Given the description of an element on the screen output the (x, y) to click on. 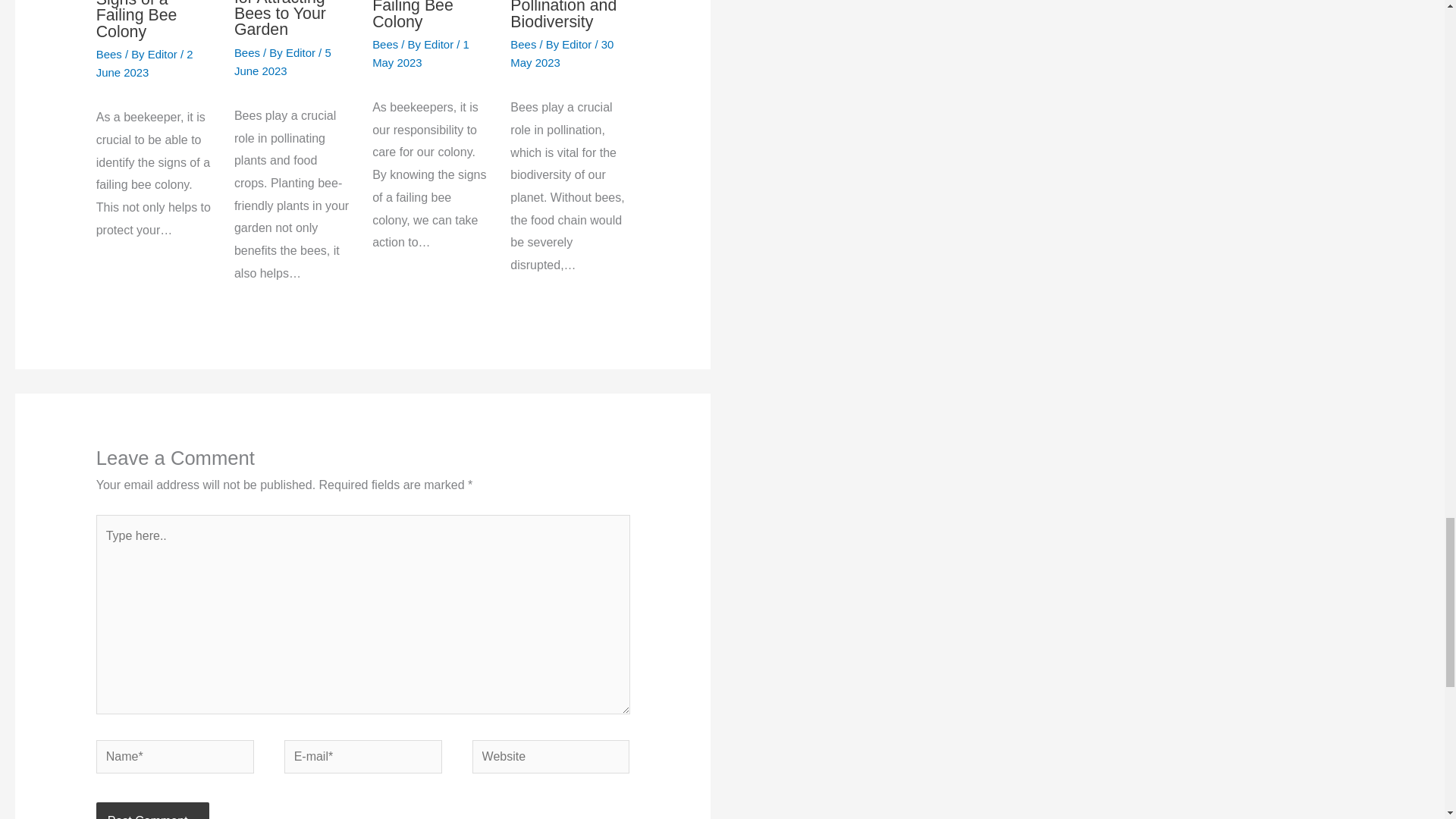
How to Spot the Signs of a Failing Bee Colony (153, 20)
Bees (109, 53)
Bees (384, 43)
Editor (164, 53)
View all posts by Editor (440, 43)
View all posts by Editor (578, 43)
How to Spot the Signs of a Failing Bee Colony (429, 15)
View all posts by Editor (301, 51)
Top 10 Plants for Attracting Bees to Your Garden (282, 19)
Editor (301, 51)
The Role of Bees in Pollination and Biodiversity (563, 15)
Editor (440, 43)
Bees (523, 43)
Editor (578, 43)
Bees (247, 51)
